Given the description of an element on the screen output the (x, y) to click on. 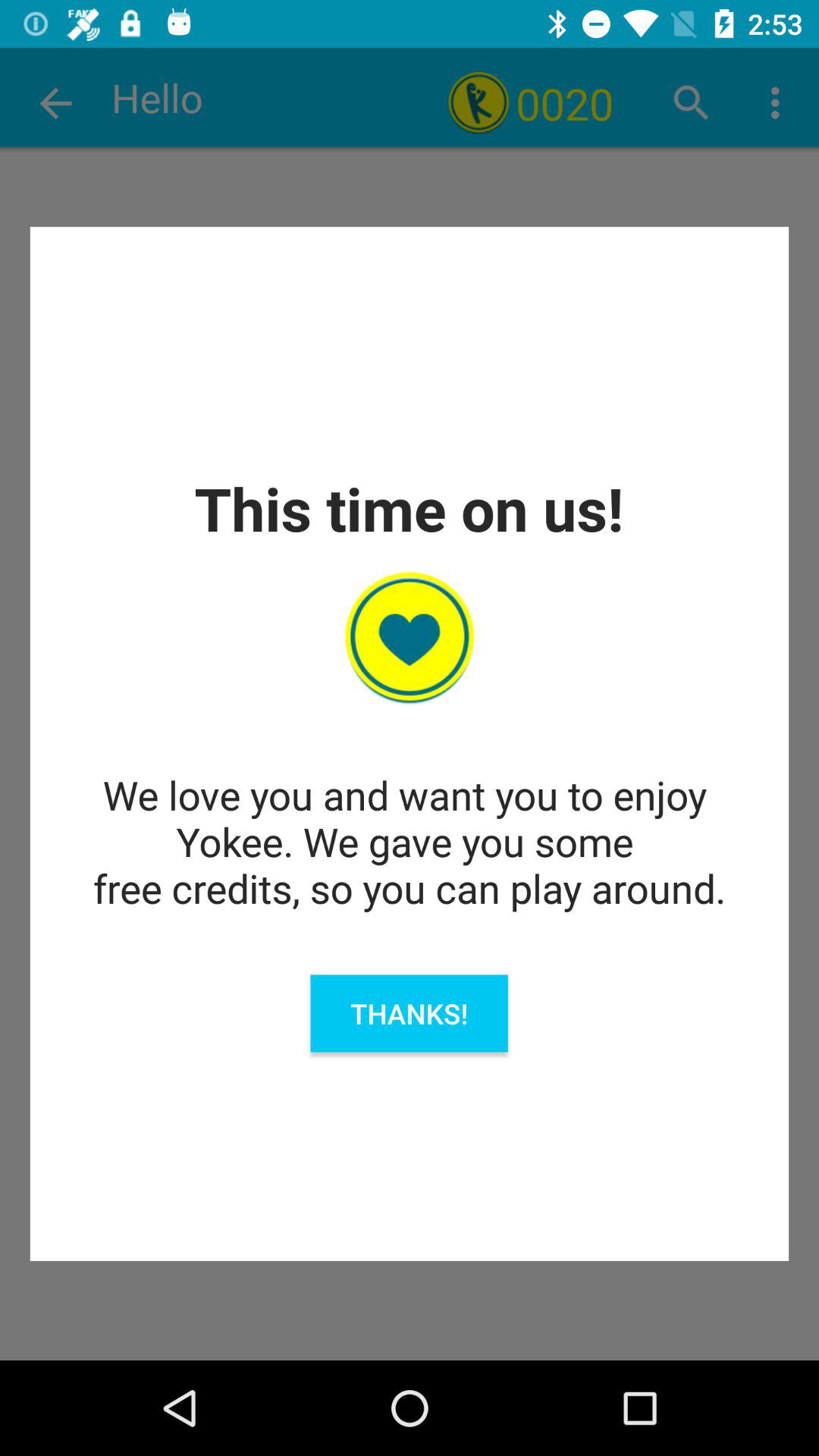
tap icon below we love you item (408, 1013)
